Given the description of an element on the screen output the (x, y) to click on. 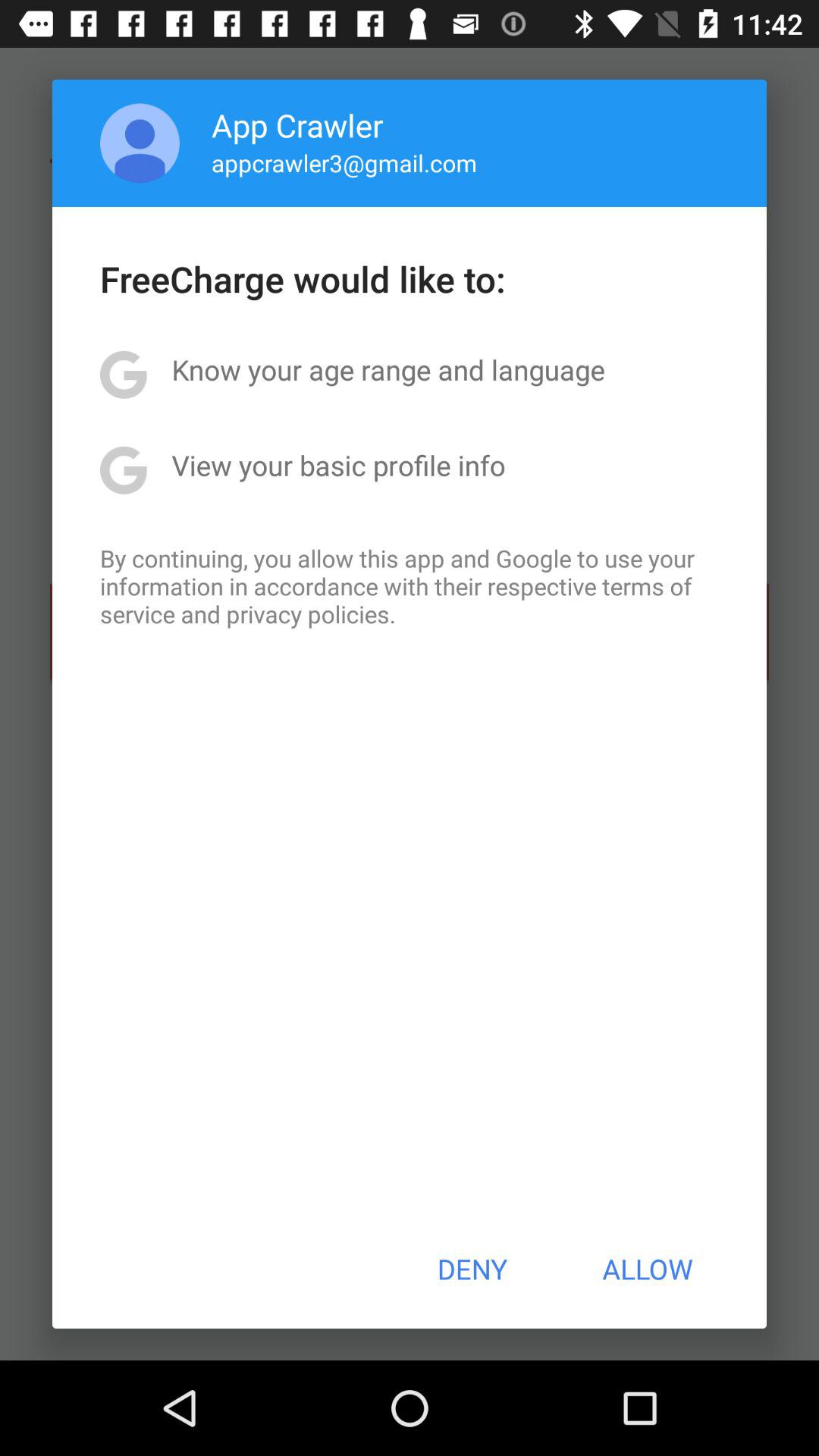
flip until view your basic app (338, 465)
